Given the description of an element on the screen output the (x, y) to click on. 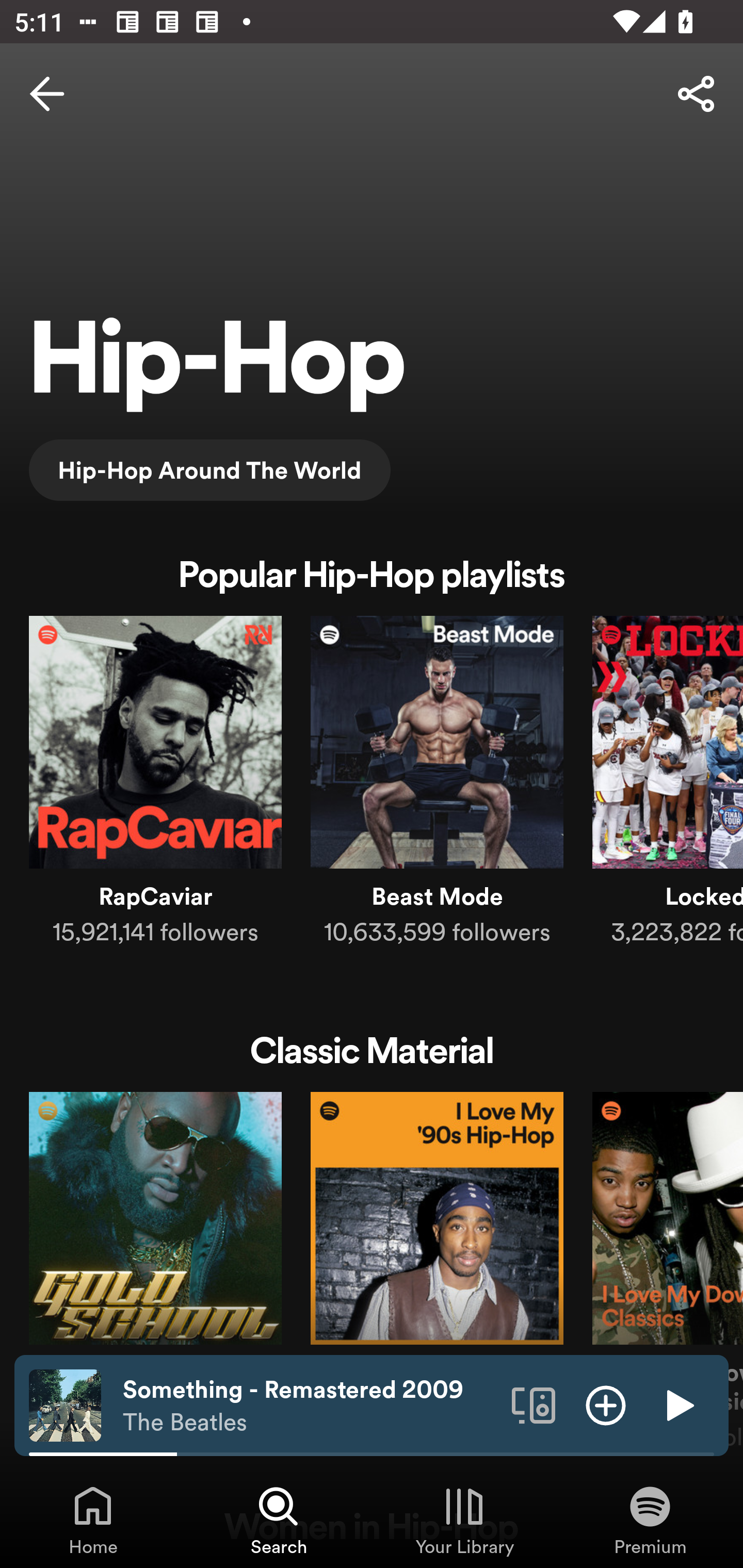
Back (46, 93)
Share Menu (695, 93)
Hip-Hop Around The World (209, 469)
Something - Remastered 2009 The Beatles (309, 1405)
The cover art of the currently playing track (64, 1404)
Connect to a device. Opens the devices menu (533, 1404)
Add item (605, 1404)
Play (677, 1404)
Home, Tab 1 of 4 Home Home (92, 1519)
Search, Tab 2 of 4 Search Search (278, 1519)
Your Library, Tab 3 of 4 Your Library Your Library (464, 1519)
Premium, Tab 4 of 4 Premium Premium (650, 1519)
